Given the description of an element on the screen output the (x, y) to click on. 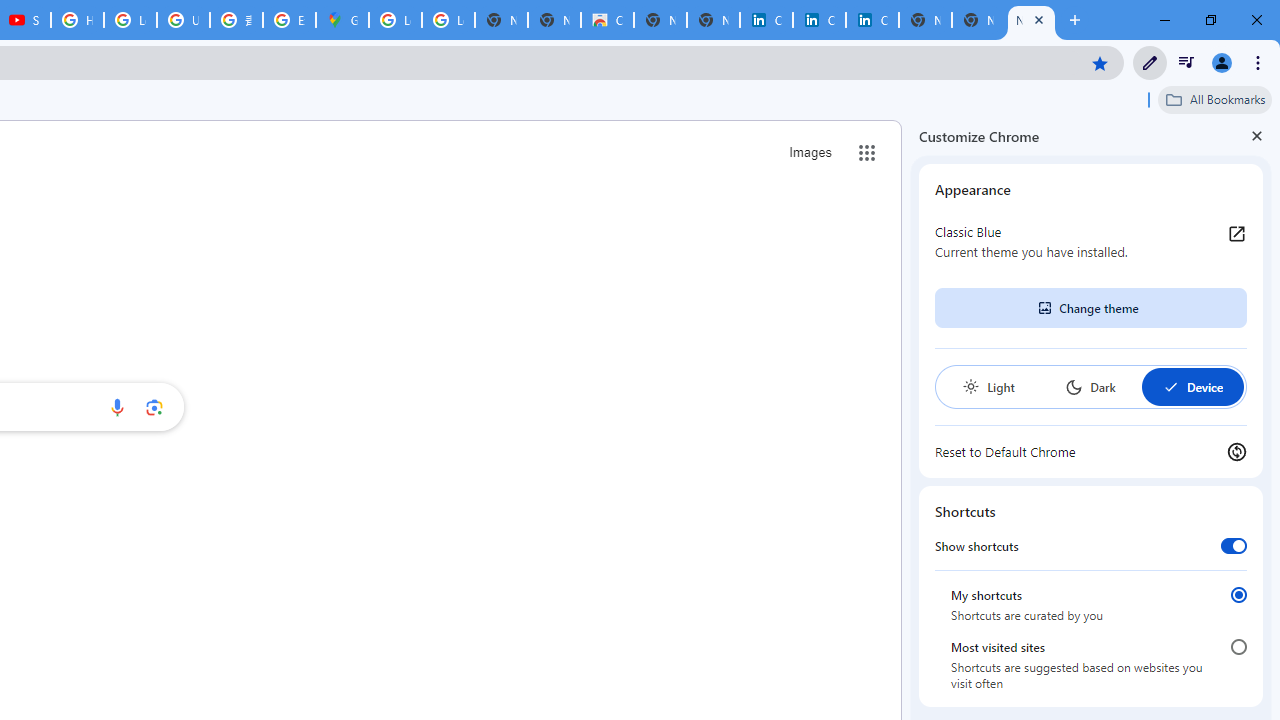
My shortcuts (1238, 594)
Cookie Policy | LinkedIn (819, 20)
Most visited sites (1238, 647)
Show shortcuts (1233, 545)
AutomationID: baseSvg (1170, 386)
New Tab (1031, 20)
Dark (1090, 386)
